Given the description of an element on the screen output the (x, y) to click on. 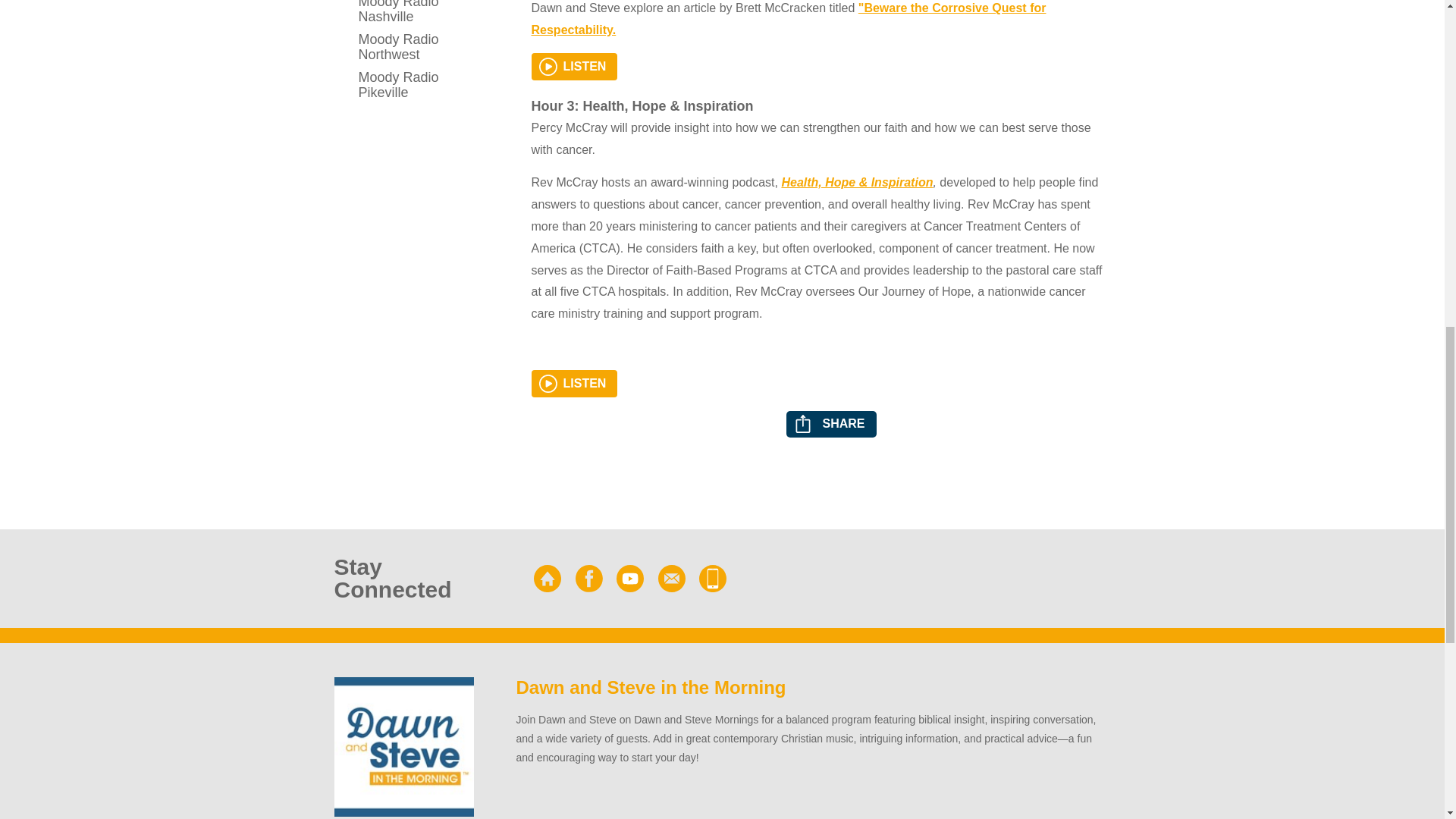
Dawn and Steve on Facebook (588, 578)
Moody Radio Northwest (403, 46)
Moody Radio Nashville (403, 13)
WFCM Nashville (547, 578)
Moody Radio Pikeville (403, 85)
